Given the description of an element on the screen output the (x, y) to click on. 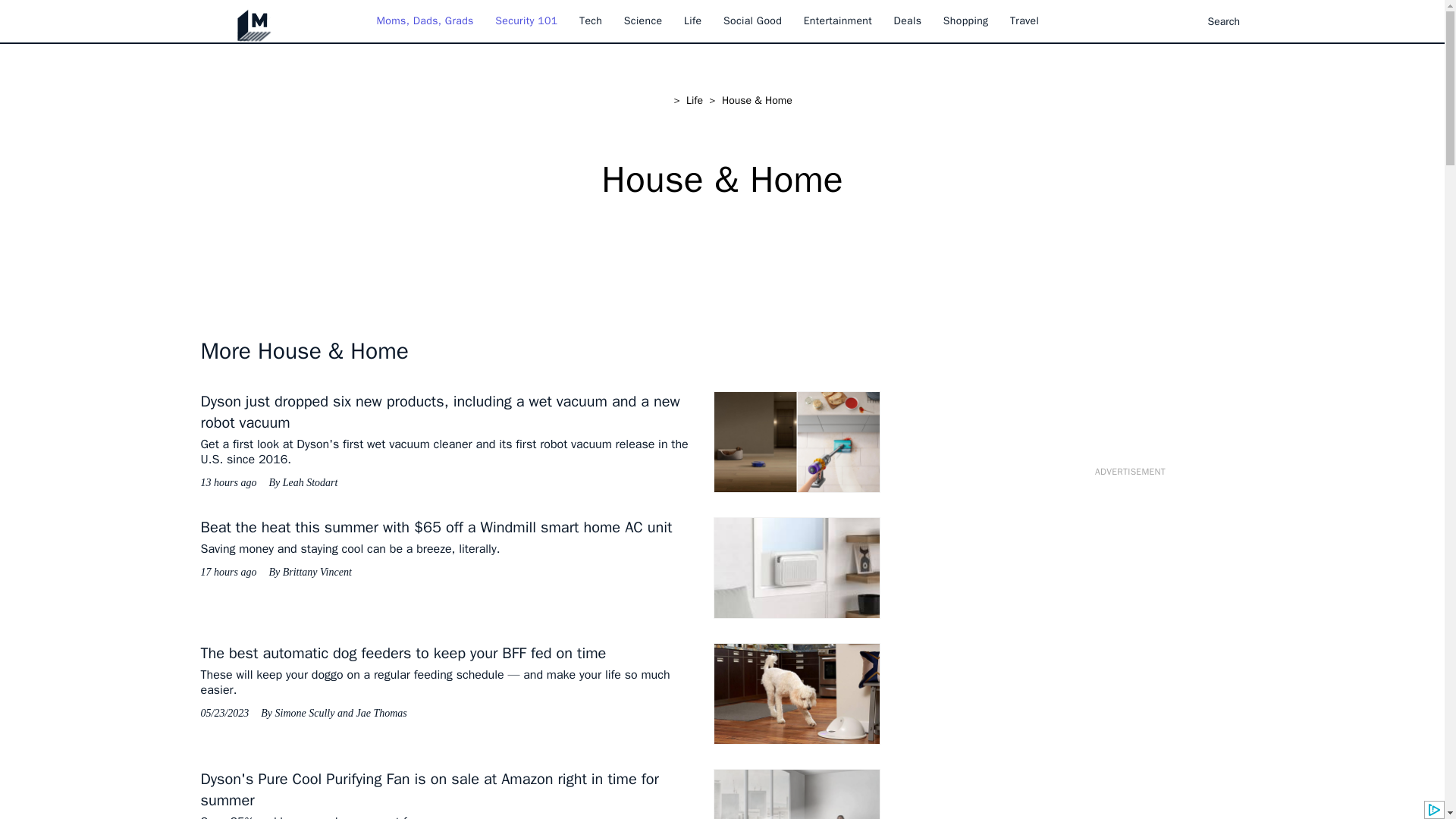
Life (692, 20)
Shopping (965, 20)
Security 101 (526, 20)
Moms, Dads, Grads (424, 20)
Tech (590, 20)
Social Good (752, 20)
Entertainment (837, 20)
Travel (1024, 20)
Deals (907, 20)
Science (643, 20)
